Given the description of an element on the screen output the (x, y) to click on. 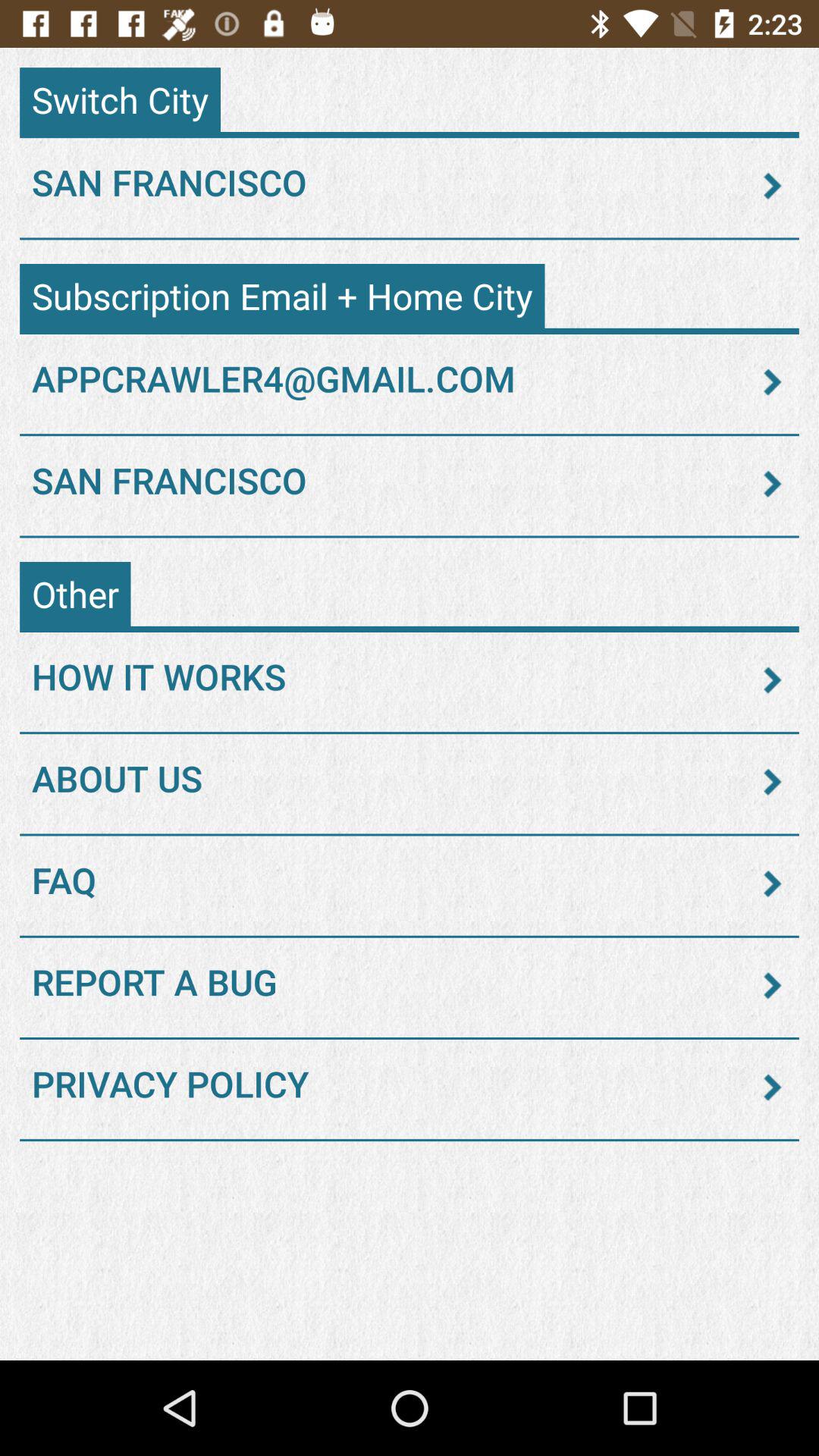
scroll until report a bug icon (409, 985)
